Given the description of an element on the screen output the (x, y) to click on. 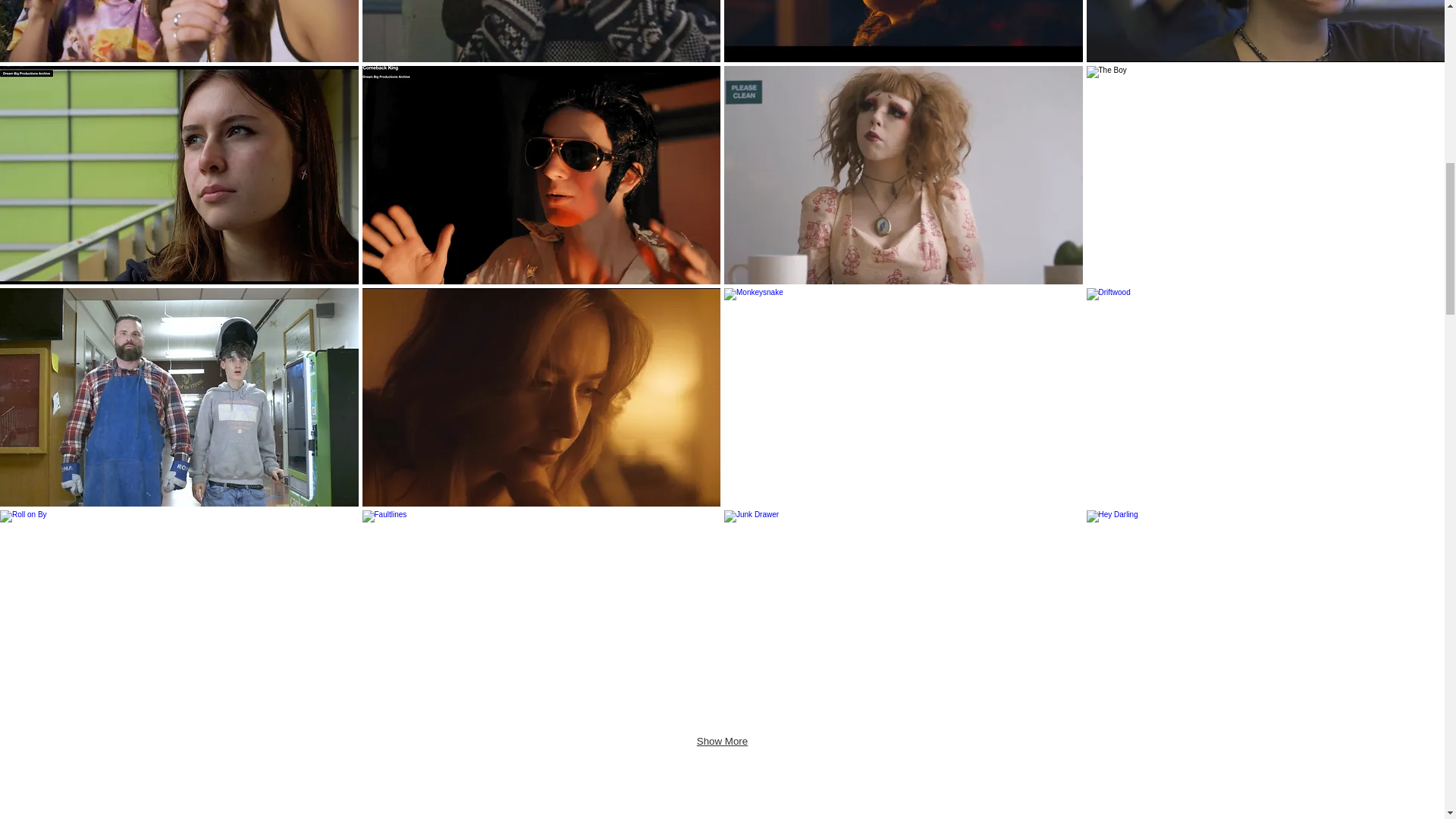
Show More (721, 741)
